Given the description of an element on the screen output the (x, y) to click on. 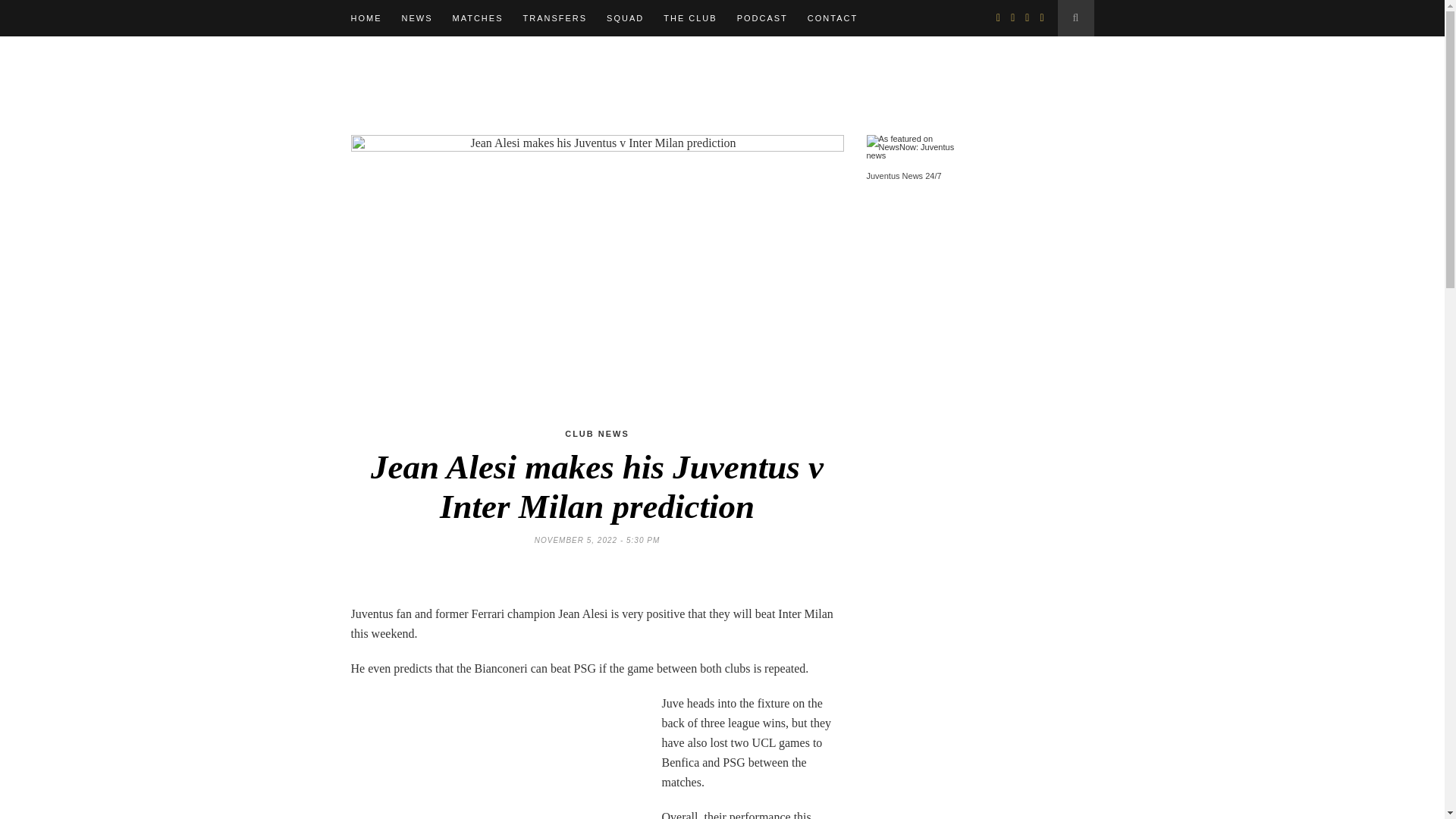
The Club (689, 18)
CONTACT (832, 18)
MATCHES (476, 18)
THE CLUB (689, 18)
Matches (476, 18)
Squad (625, 18)
PODCAST (761, 18)
View all posts in Club News (596, 433)
Contact (832, 18)
